Given the description of an element on the screen output the (x, y) to click on. 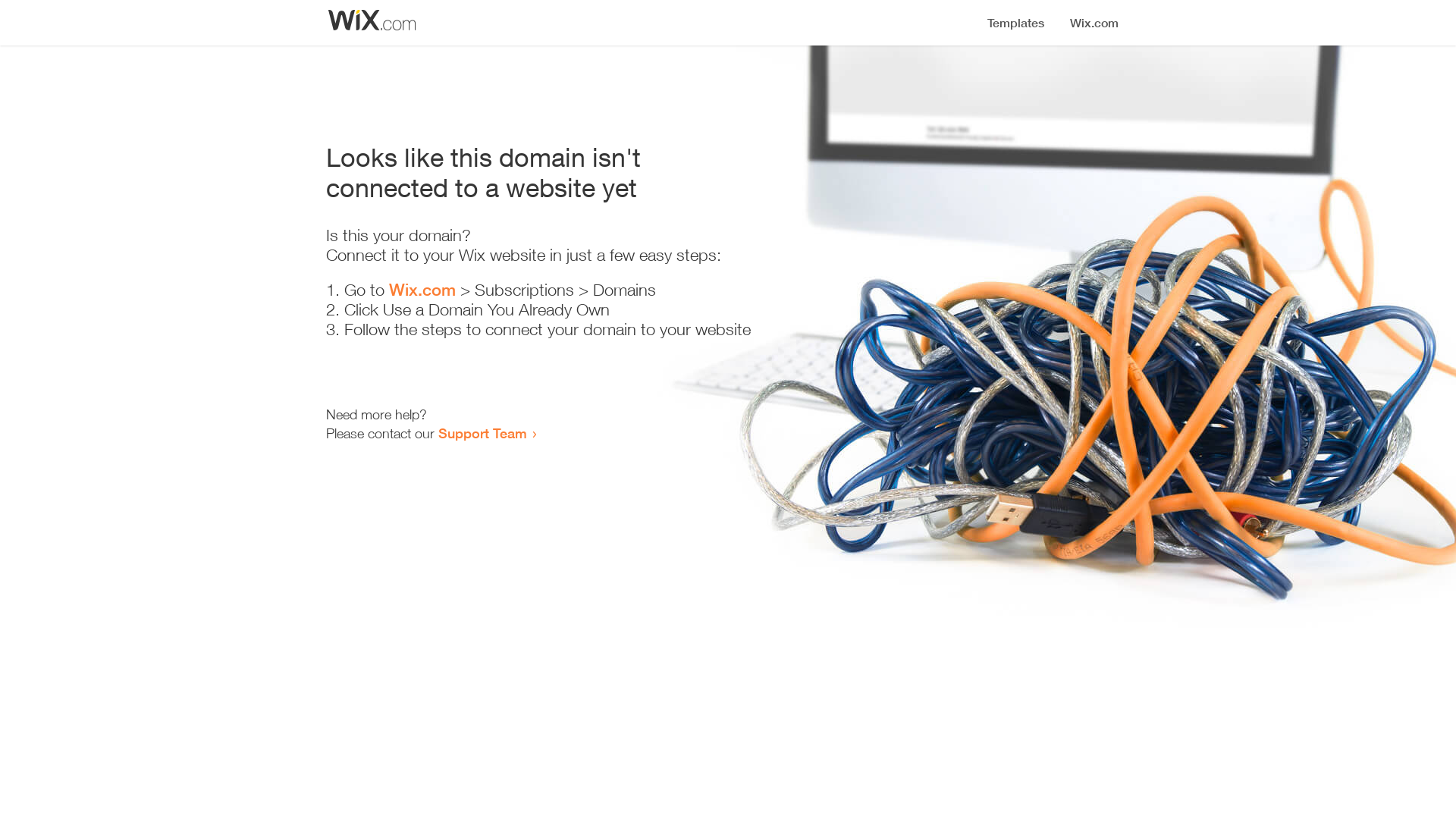
Support Team Element type: text (482, 432)
Wix.com Element type: text (422, 289)
